Given the description of an element on the screen output the (x, y) to click on. 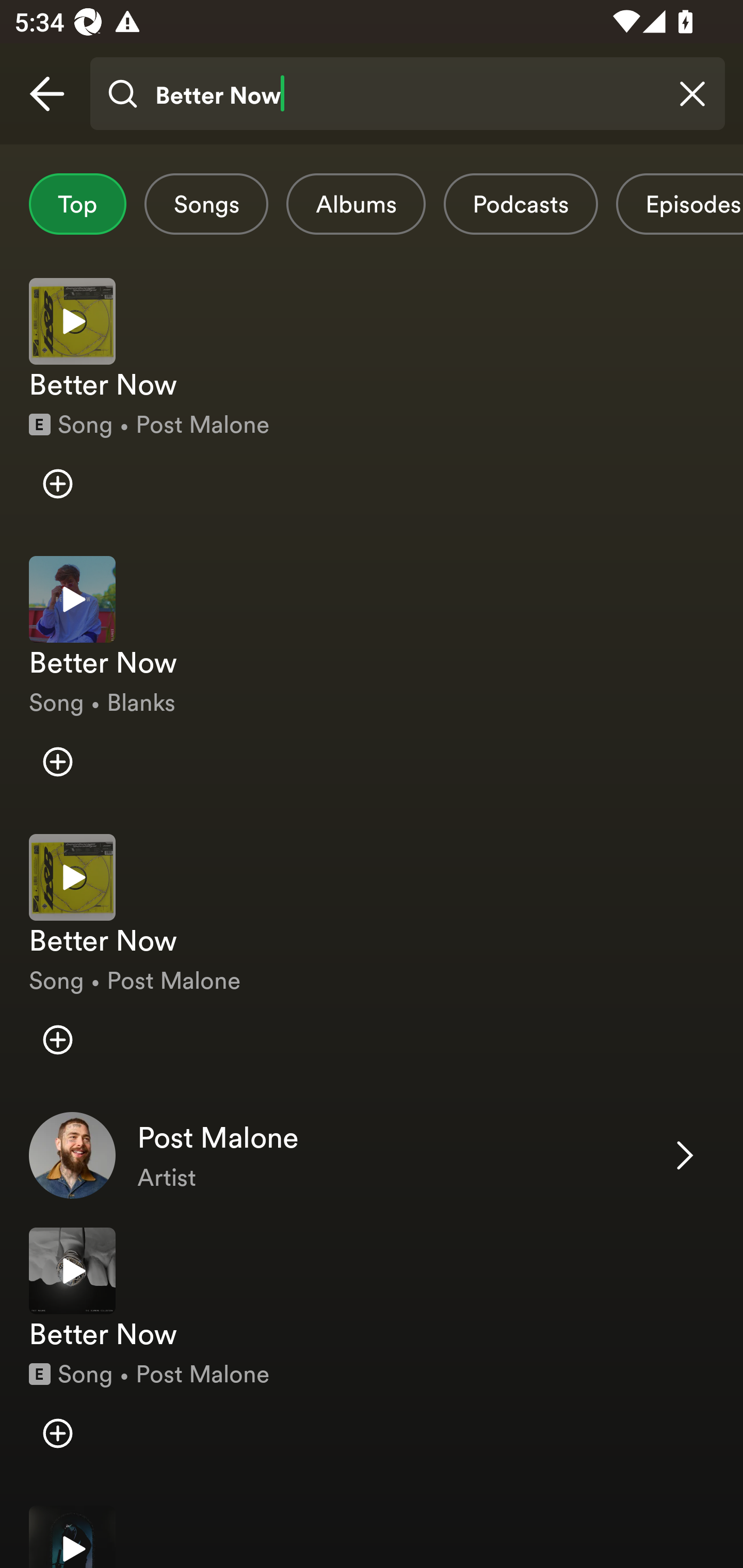
Back (46, 93)
Better Now Search (407, 94)
Clear Search (692, 94)
Top (77, 203)
Songs (206, 203)
Albums (355, 203)
Podcasts (520, 203)
Episodes (679, 203)
Play preview (71, 321)
Add item (57, 483)
Play preview Better Now Song • Blanks Add item (371, 680)
Play preview (71, 599)
Add item (57, 761)
Play preview (71, 877)
Add item (57, 1040)
Post Malone Artist (371, 1155)
Play preview (71, 1270)
Add item (57, 1433)
Play preview (71, 1536)
